Given the description of an element on the screen output the (x, y) to click on. 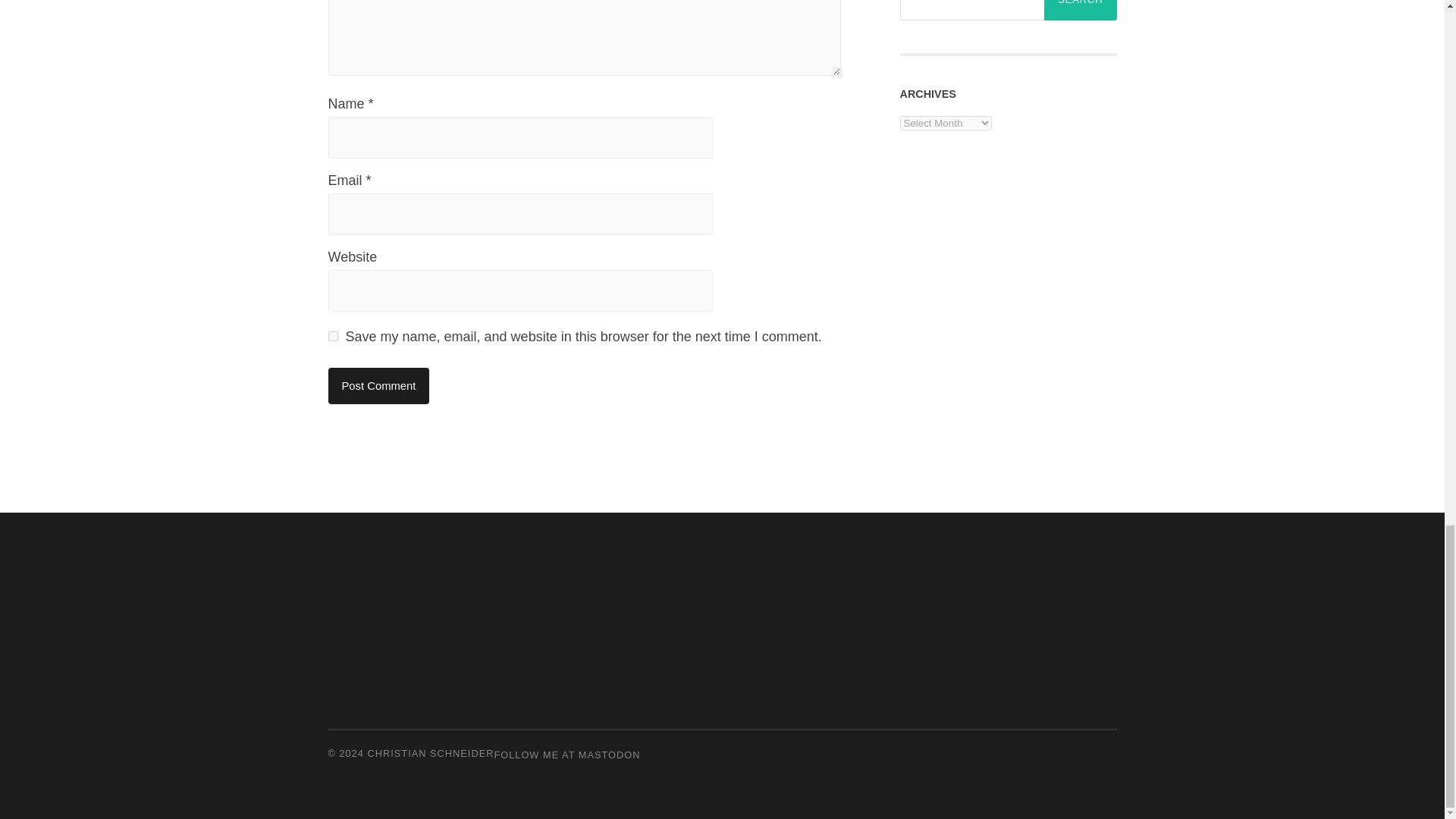
yes (332, 336)
Post Comment (378, 385)
Search (1079, 10)
Post Comment (378, 385)
